Given the description of an element on the screen output the (x, y) to click on. 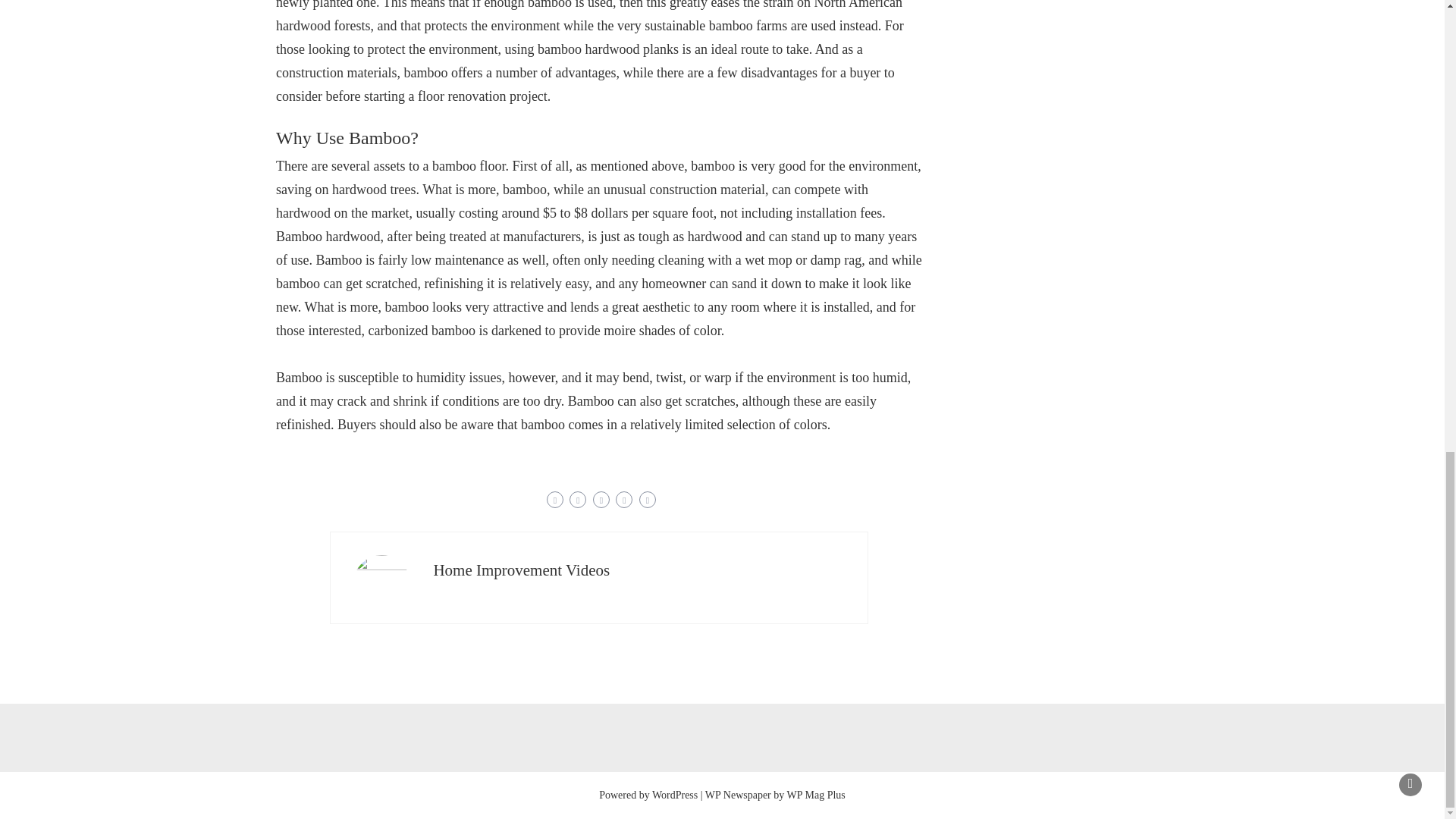
WordPress (674, 794)
WP Newspaper by WP Mag Plus (774, 794)
Home Improvement Videos (521, 569)
